Given the description of an element on the screen output the (x, y) to click on. 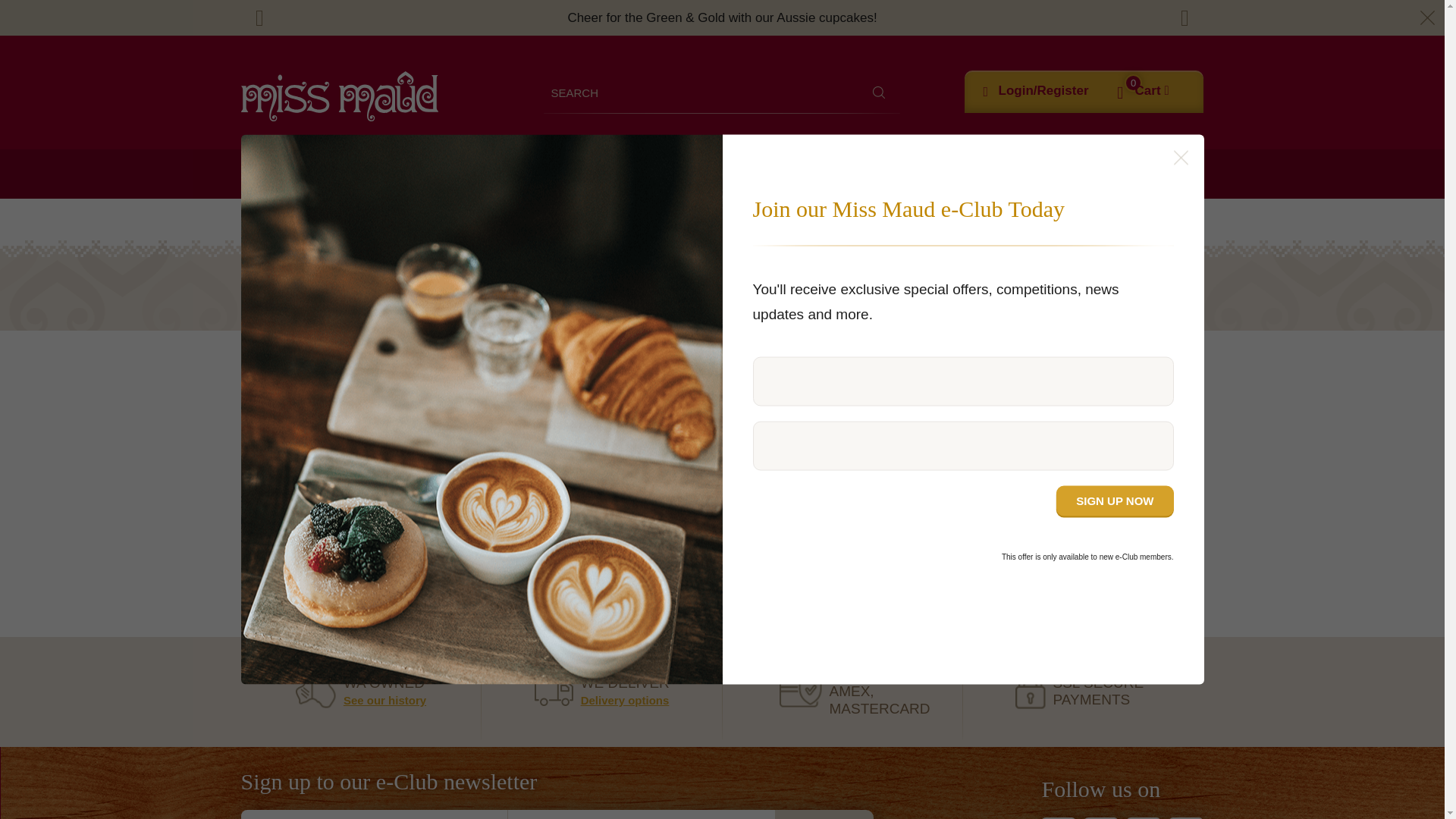
CATERING (434, 174)
HOME (260, 174)
Search (879, 92)
facebook (1058, 818)
linkedIn (1186, 818)
GIFT IDEAS (924, 174)
Next Slide (1185, 18)
instagram (1100, 818)
Cart (1152, 90)
youtube (1142, 818)
Reset Password (721, 538)
Sign Up (823, 814)
SPECIAL DIETARY (696, 174)
Previous Slide (260, 18)
Sign Up Now (1115, 500)
